Given the description of an element on the screen output the (x, y) to click on. 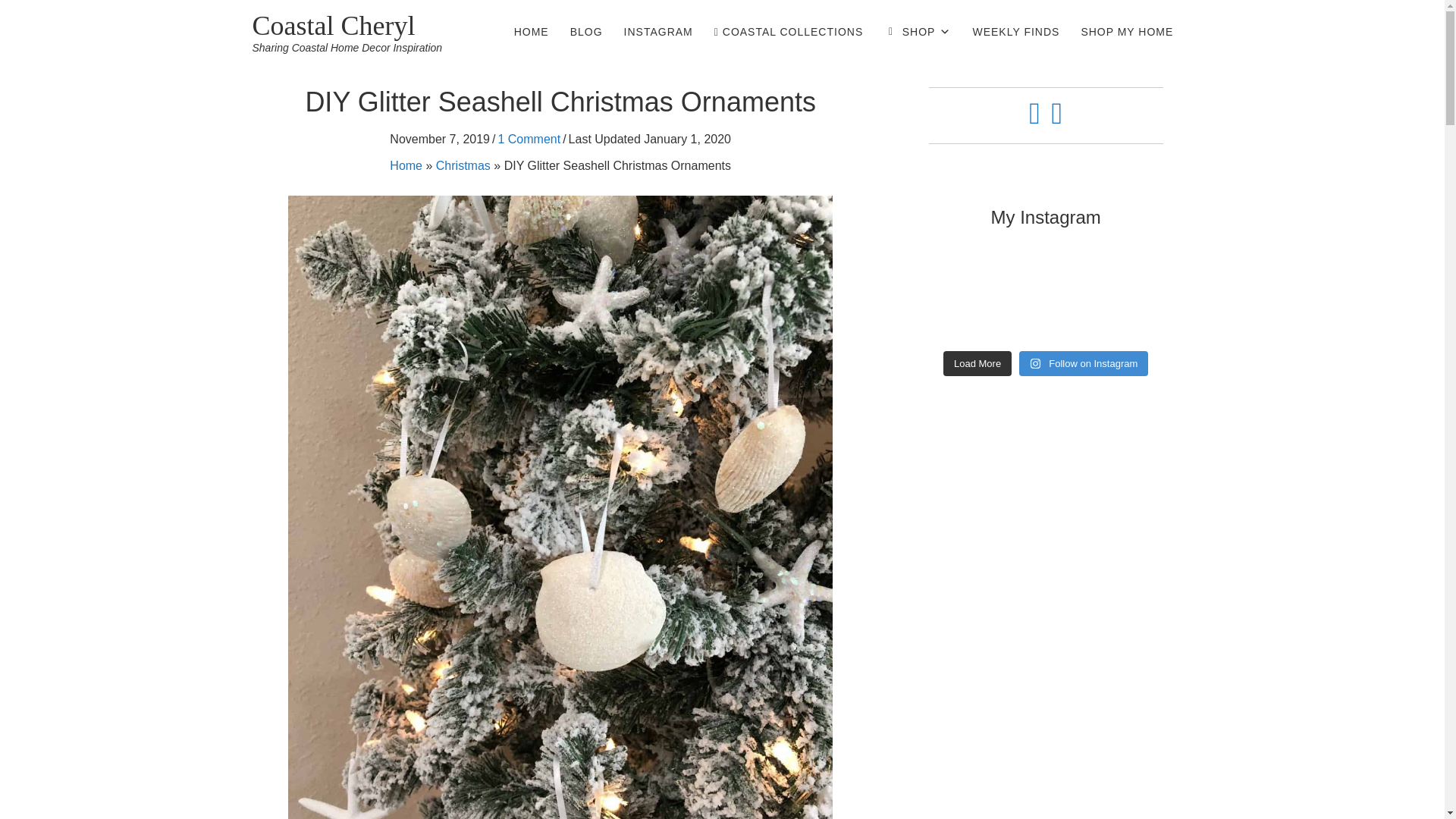
HOME (531, 31)
Coastal Cheryl (332, 25)
SHOP (916, 31)
Coastal Cheryl (332, 25)
COASTAL COLLECTIONS (789, 31)
INSTAGRAM (657, 31)
BLOG (585, 31)
